Given the description of an element on the screen output the (x, y) to click on. 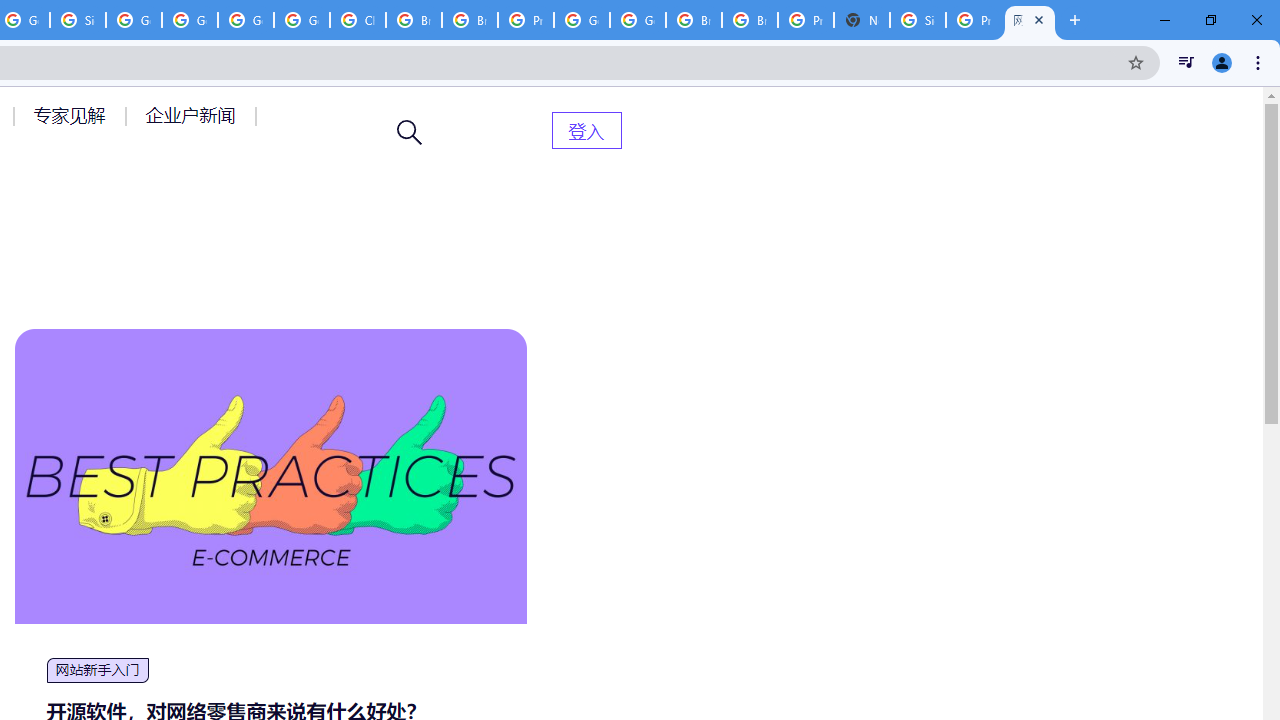
Browse Chrome as a guest - Computer - Google Chrome Help (693, 20)
Google Cloud Platform (637, 20)
AutomationID: menu-item-77765 (194, 115)
